Given the description of an element on the screen output the (x, y) to click on. 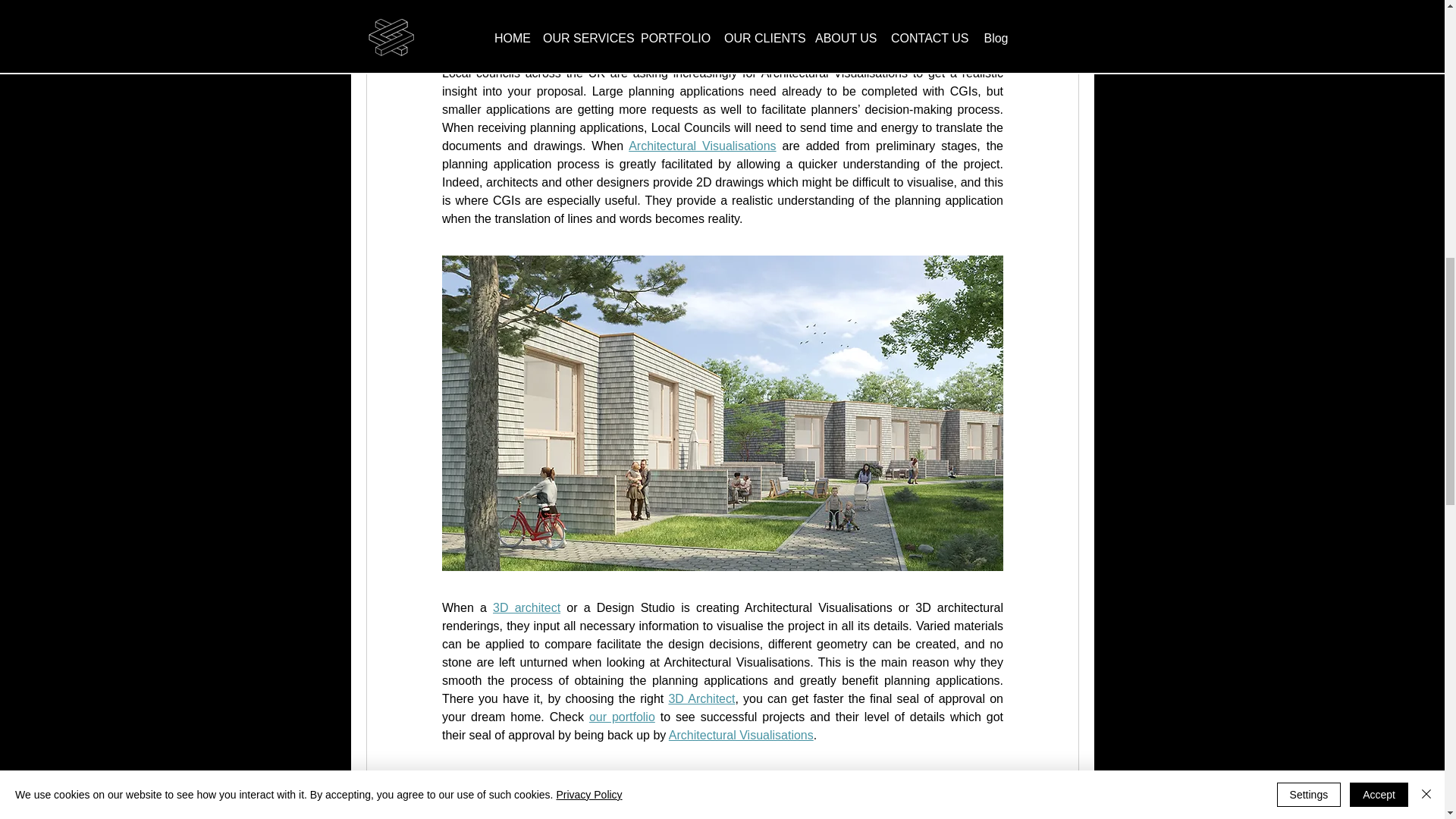
our portfolio (620, 716)
3D architect (526, 607)
Architectural Visualisations (702, 145)
Architectural Visualisations (740, 735)
3D Architect (701, 698)
